Given the description of an element on the screen output the (x, y) to click on. 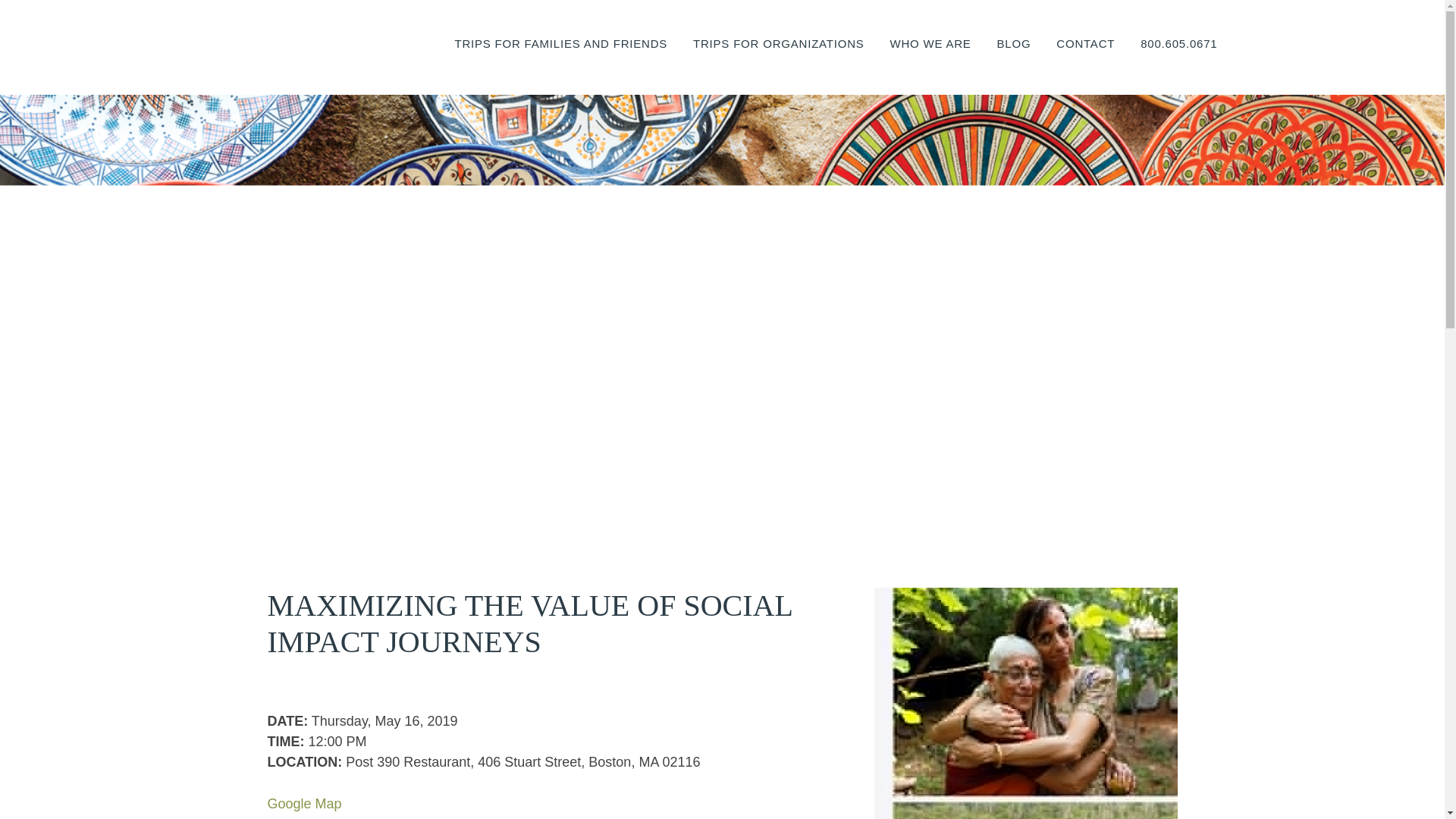
Elevate Destinations (308, 49)
800.605.0671 (1178, 61)
WHO WE ARE (930, 61)
TRIPS FOR FAMILIES AND FRIENDS (560, 61)
TRIPS FOR ORGANIZATIONS (778, 61)
